Given the description of an element on the screen output the (x, y) to click on. 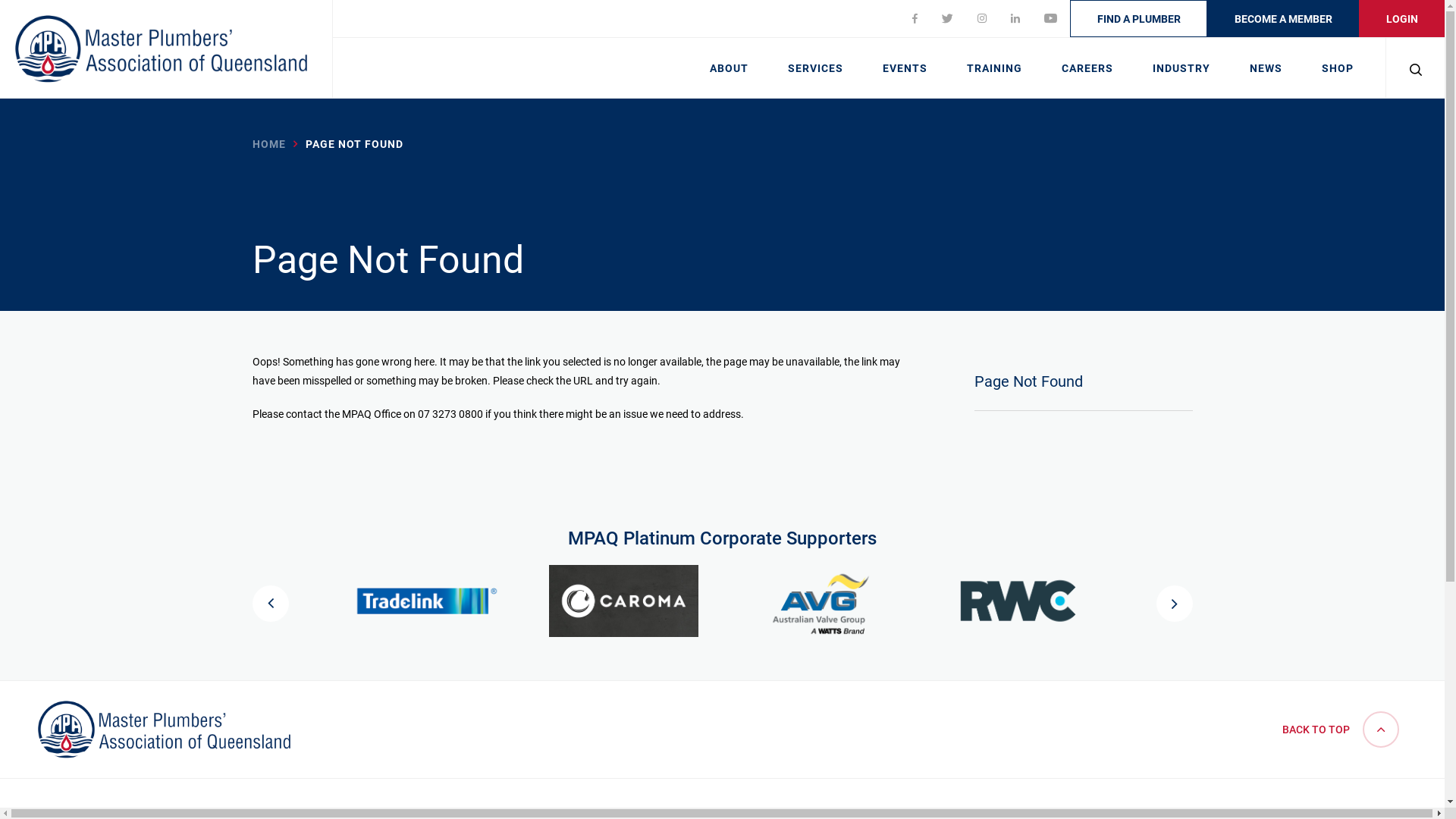
Previous Element type: text (269, 603)
CAREERS Element type: text (1086, 67)
LOGIN Element type: text (1401, 18)
EVENTS Element type: text (904, 67)
INDUSTRY Element type: text (1181, 67)
Tradelink - Platinum Corporate Supporter Element type: hover (426, 600)
NEWS Element type: text (1266, 67)
RWC - Platinum Corporate Supporter Element type: hover (1018, 600)
HOME Element type: text (268, 144)
TRAINING Element type: text (994, 67)
SHOP Element type: text (1337, 67)
BACK TO TOP Element type: text (1340, 729)
ABOUT Element type: text (729, 67)
BECOME A MEMBER Element type: text (1282, 18)
CAROMA - Platinum Corporate Supporter Element type: hover (624, 600)
SERVICES Element type: text (815, 67)
AVG - Platinum Corporate Supporter Element type: hover (821, 600)
FIND A PLUMBER Element type: text (1138, 18)
Next Element type: text (1173, 603)
